Given the description of an element on the screen output the (x, y) to click on. 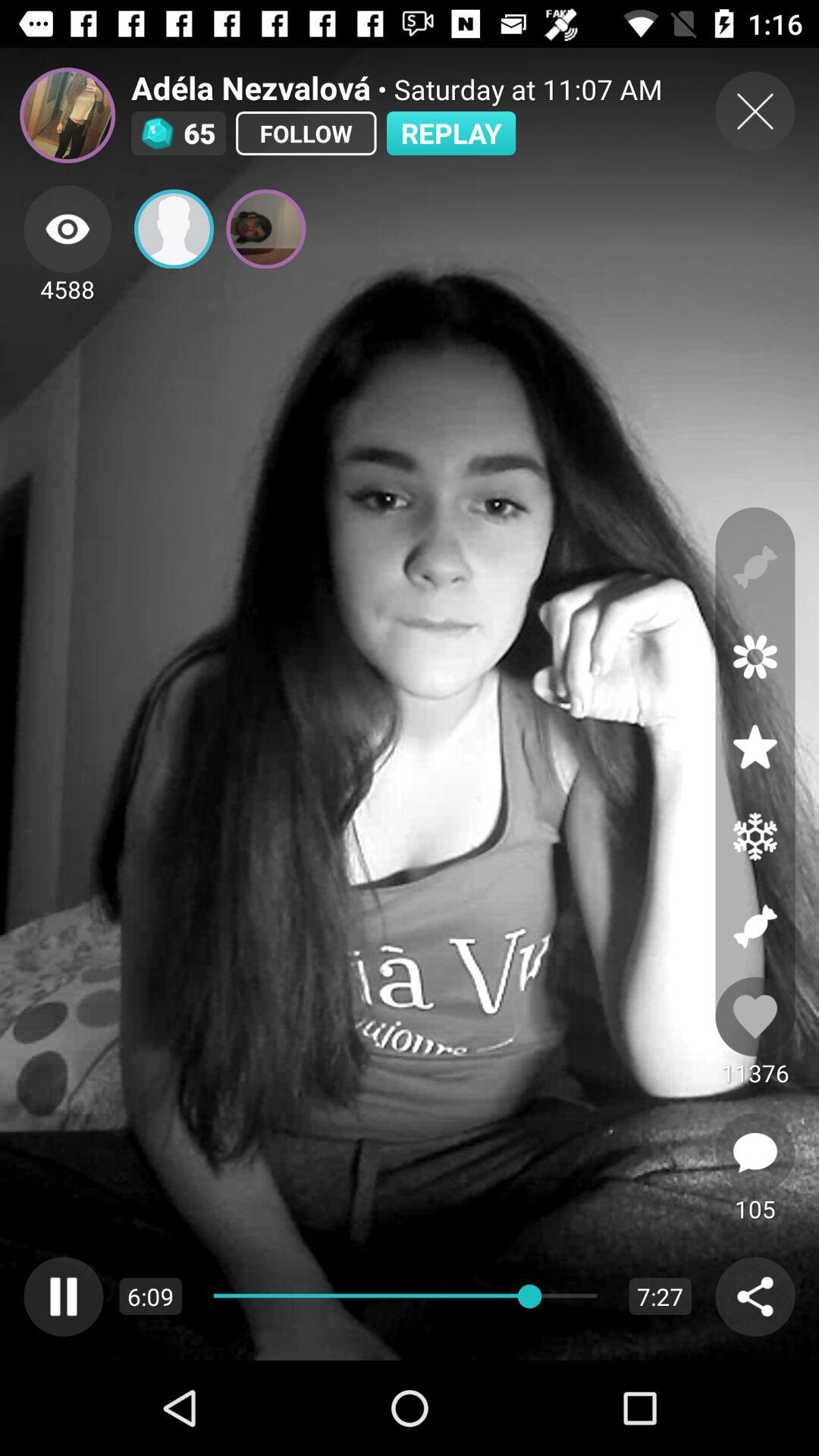
go to search box (755, 1296)
